Given the description of an element on the screen output the (x, y) to click on. 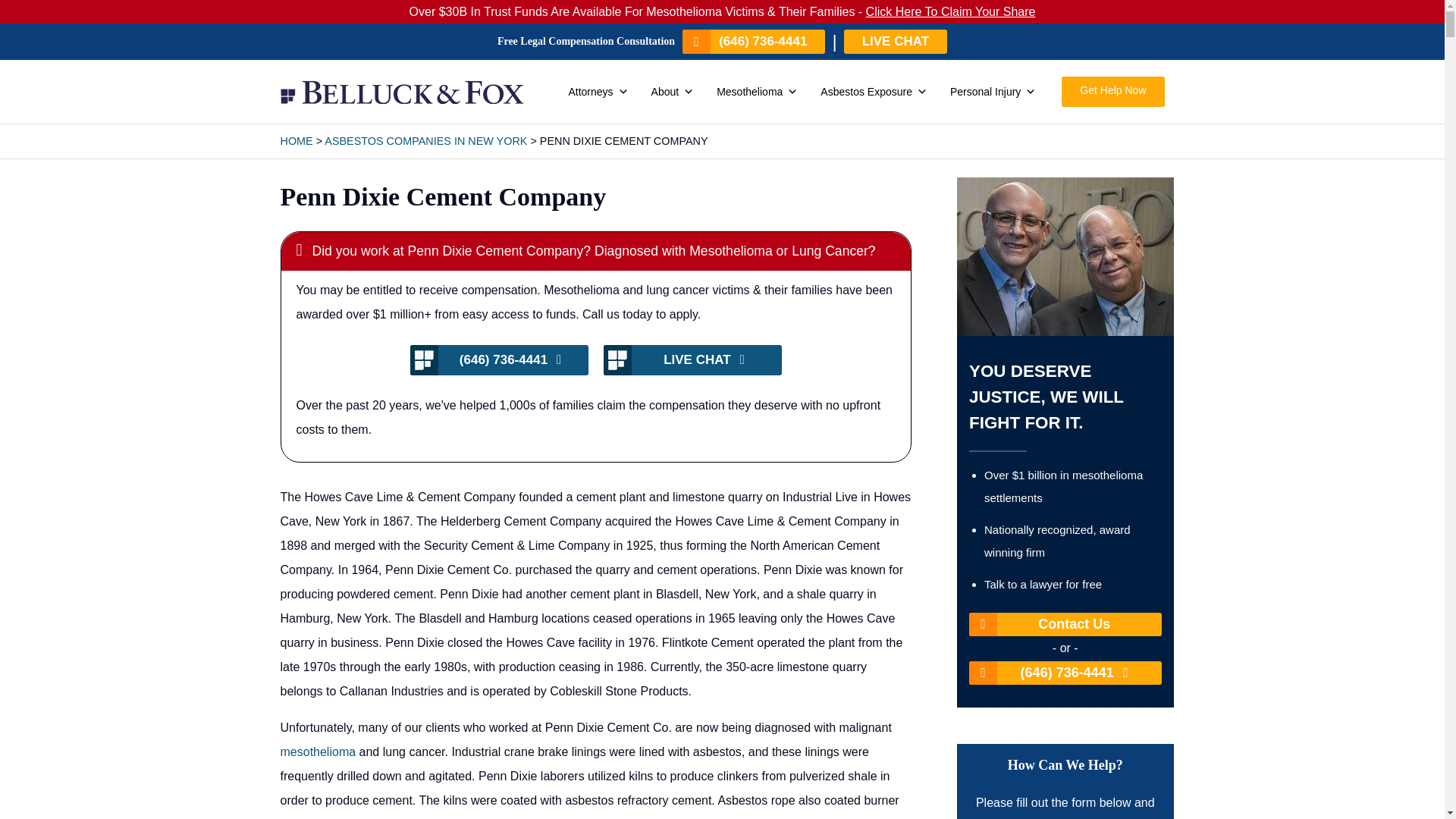
Attorneys (597, 91)
Mesothelioma (756, 91)
Asbestos Exposure (874, 91)
About (672, 91)
LIVE CHAT (895, 41)
Click Here To Claim Your Share (950, 11)
